Given the description of an element on the screen output the (x, y) to click on. 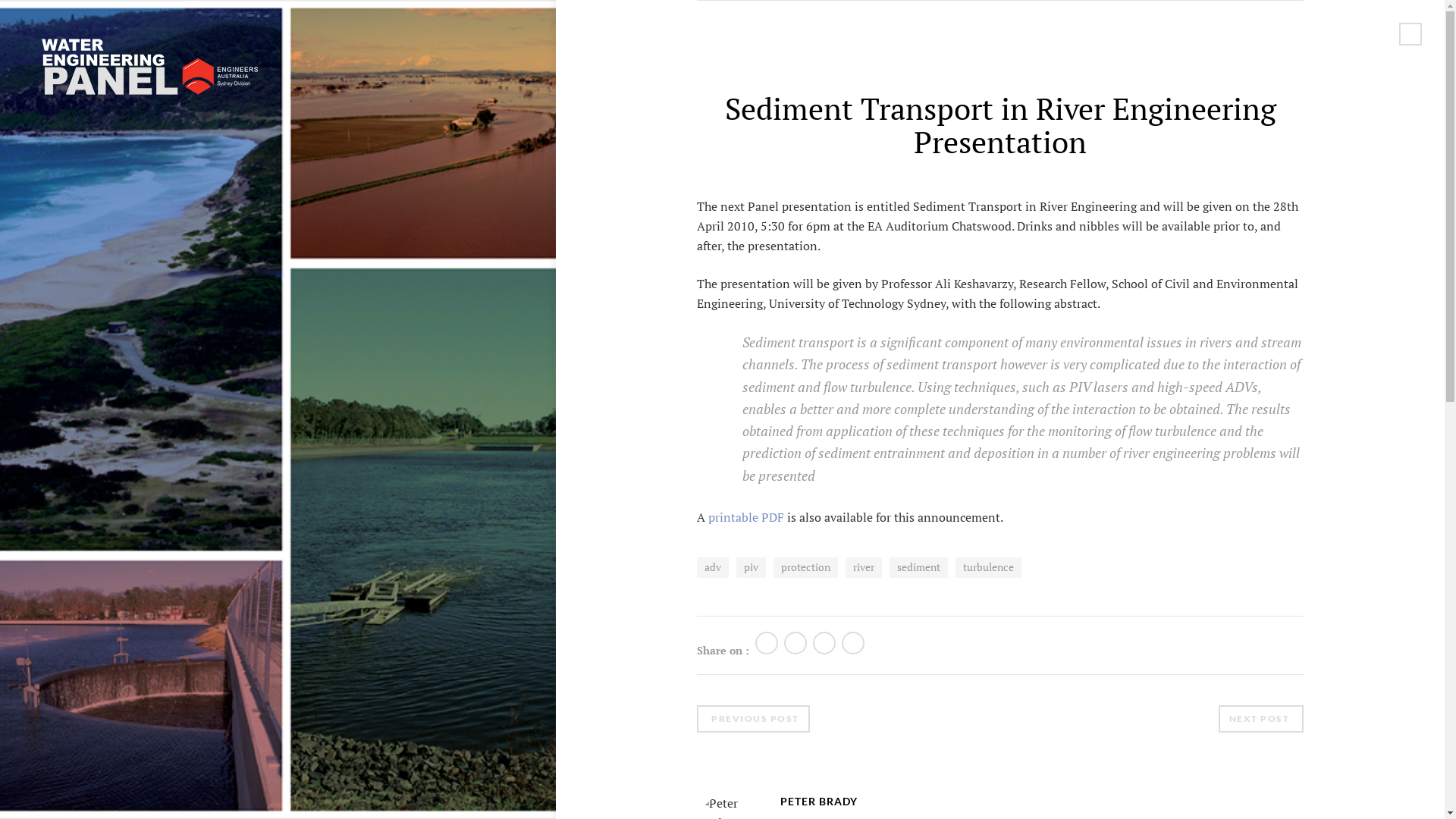
Dinner Element type: text (1251, 724)
government Element type: text (1322, 748)
management Element type: text (1327, 798)
PREVIOUS POST Element type: text (752, 718)
HWRS 2022 Abstracts Extended Until June 3 Element type: text (1328, 372)
piv Element type: text (750, 567)
Reconnecting waterways to reconnect fish habitats Element type: text (1328, 407)
floodplain Element type: text (1260, 748)
What SDGs mean for water engineering Element type: text (1327, 312)
turbulence Element type: text (988, 567)
AGM Element type: text (1295, 624)
design Element type: text (1395, 699)
conference Element type: text (1359, 674)
HIWE2017 Element type: text (1331, 773)
adv Element type: text (712, 567)
darcy Element type: text (1289, 699)
Privacy Policy Element type: text (1268, 161)
printable PDF Element type: text (746, 516)
Groundwater Element type: text (1266, 773)
2022 Hydrology and Water Resources Symposium Element type: text (1328, 441)
desalination Element type: text (1341, 699)
arr Element type: text (1403, 624)
flood Element type: text (1394, 724)
river Element type: text (863, 567)
protection Element type: text (805, 567)
interaction Element type: text (1261, 798)
comment Element type: text (1301, 674)
Mailing List Element type: text (1263, 145)
About Element type: text (1250, 110)
Committee Element type: text (1262, 127)
NEXT POST Element type: text (1261, 718)
abstract Element type: text (1255, 624)
sediment Element type: text (918, 567)
coastal Element type: text (1252, 674)
announcement Element type: text (1352, 624)
Climate Change Element type: text (1376, 649)
ARR2016 Element type: text (1257, 649)
blockage Element type: text (1309, 649)
extension Element type: text (1300, 724)
CSIRO Element type: text (1251, 699)
fishways Element type: text (1352, 724)
